Given the description of an element on the screen output the (x, y) to click on. 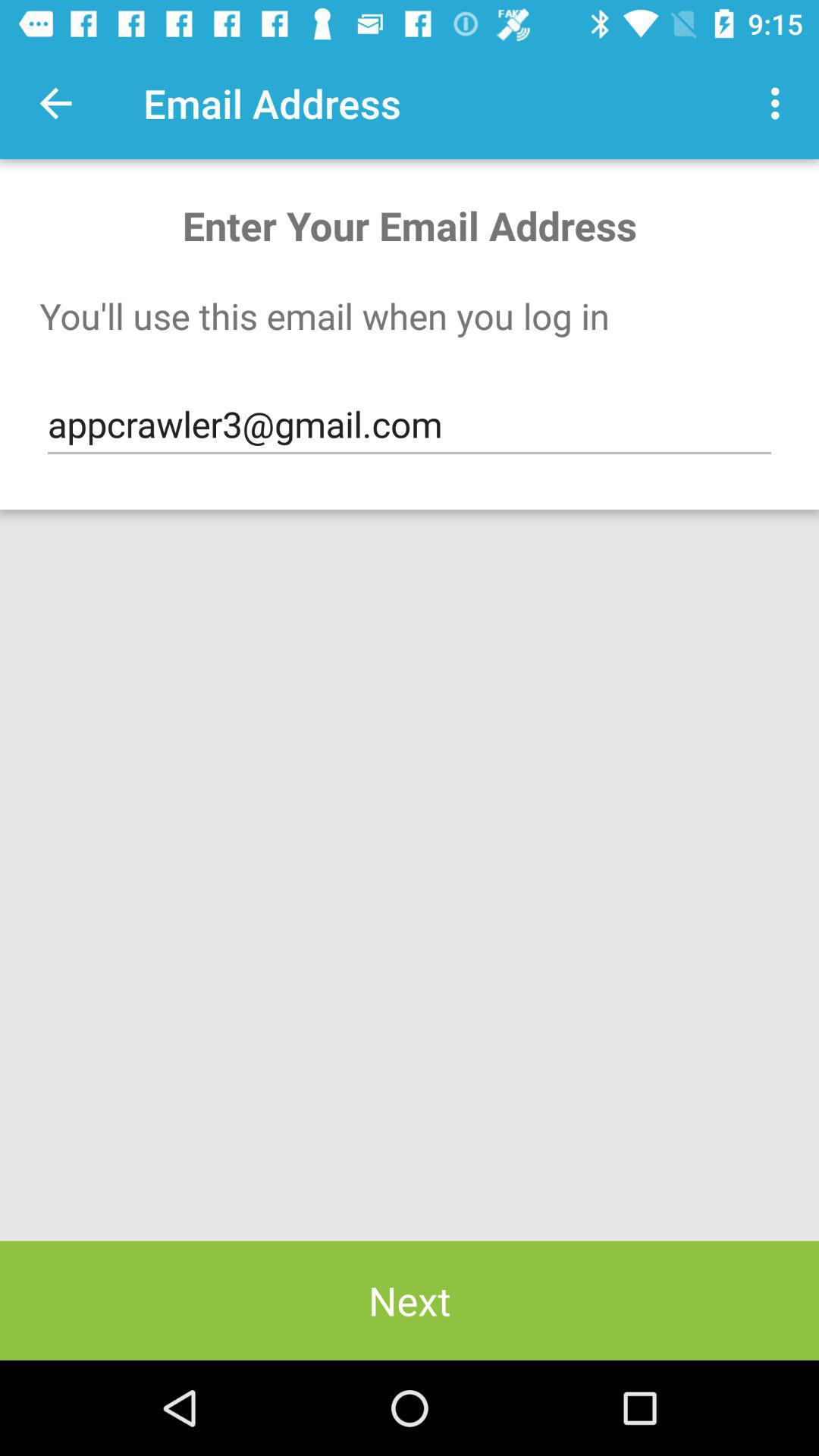
turn off item above the enter your email icon (779, 103)
